Given the description of an element on the screen output the (x, y) to click on. 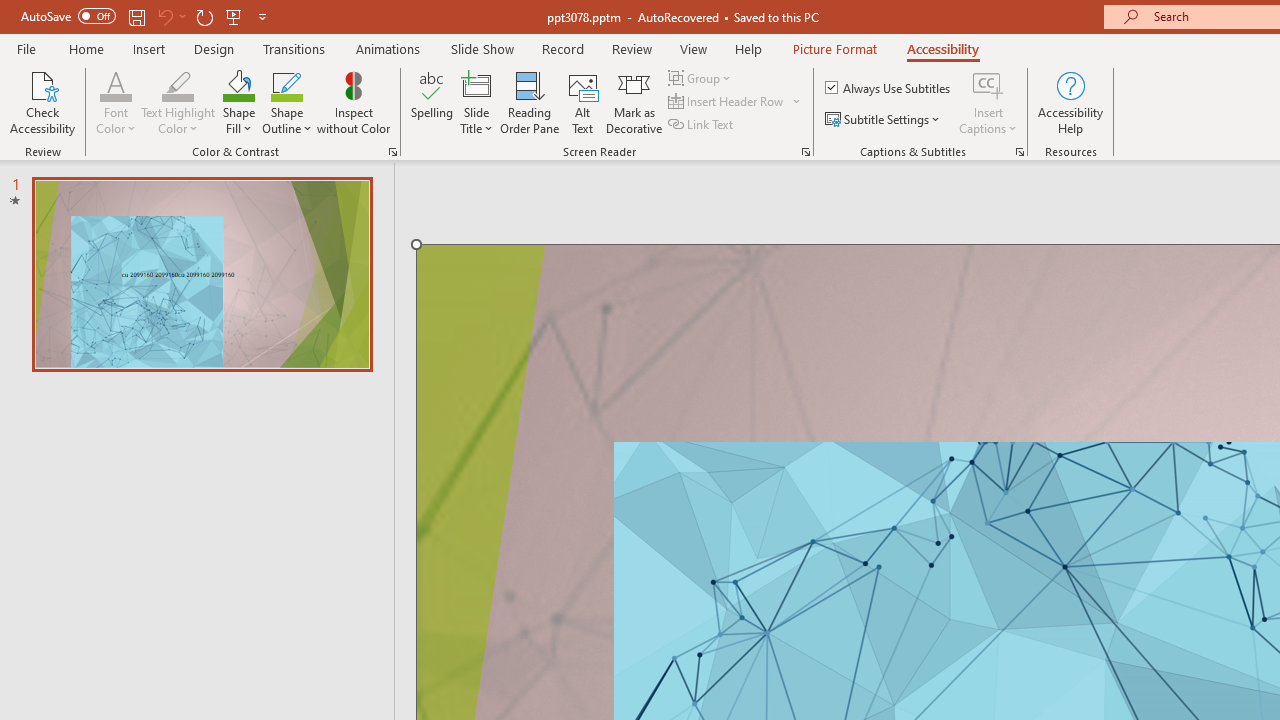
Screen Reader (805, 151)
Shape Fill Dark Green, Accent 2 (238, 84)
Check Accessibility (42, 102)
Shape Outline (286, 102)
Mark as Decorative (634, 102)
Color & Contrast (392, 151)
Inspect without Color (353, 102)
Insert Header Row (727, 101)
